Given the description of an element on the screen output the (x, y) to click on. 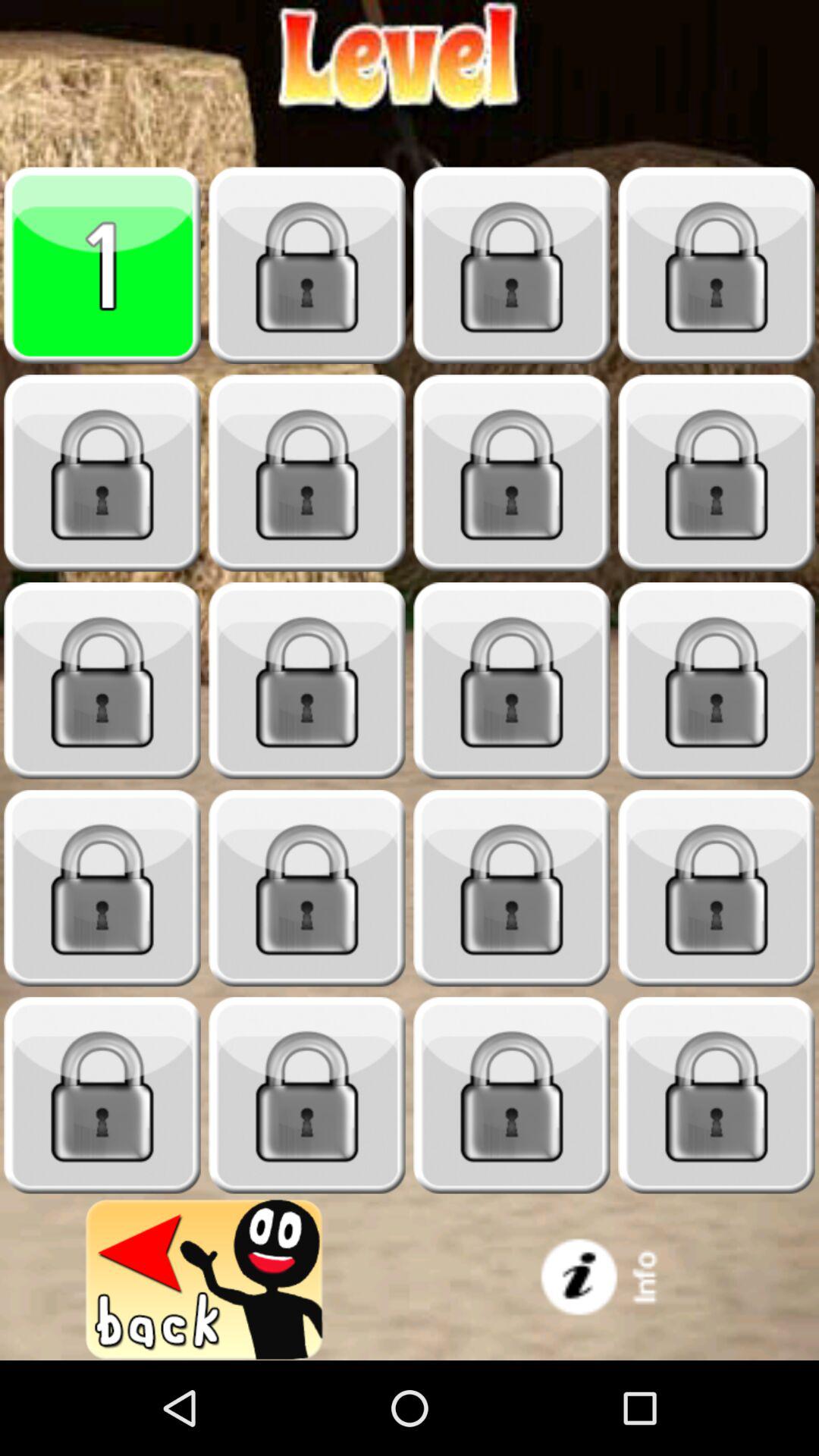
select locked level (306, 1094)
